Given the description of an element on the screen output the (x, y) to click on. 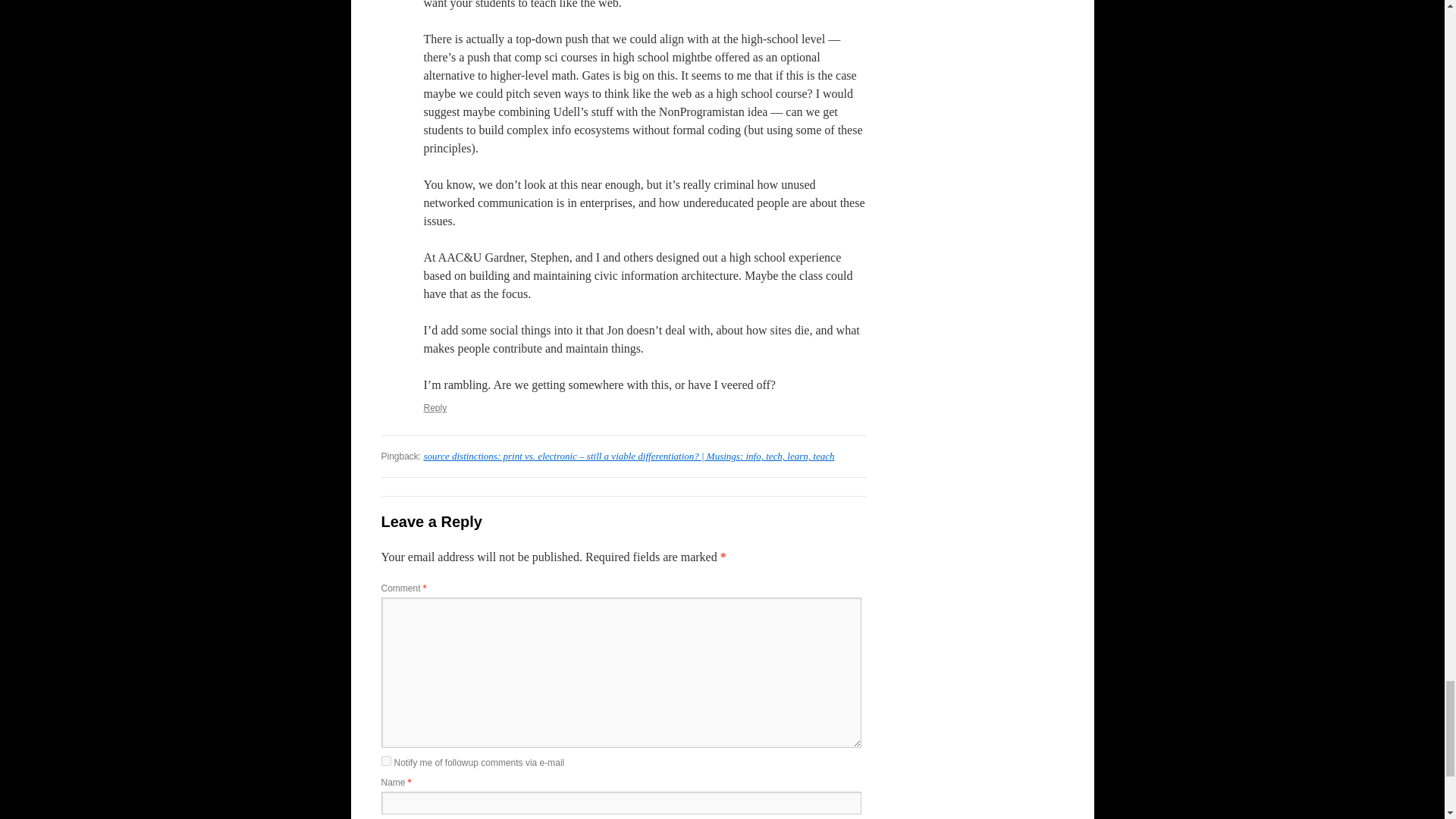
subscribe (385, 760)
